Given the description of an element on the screen output the (x, y) to click on. 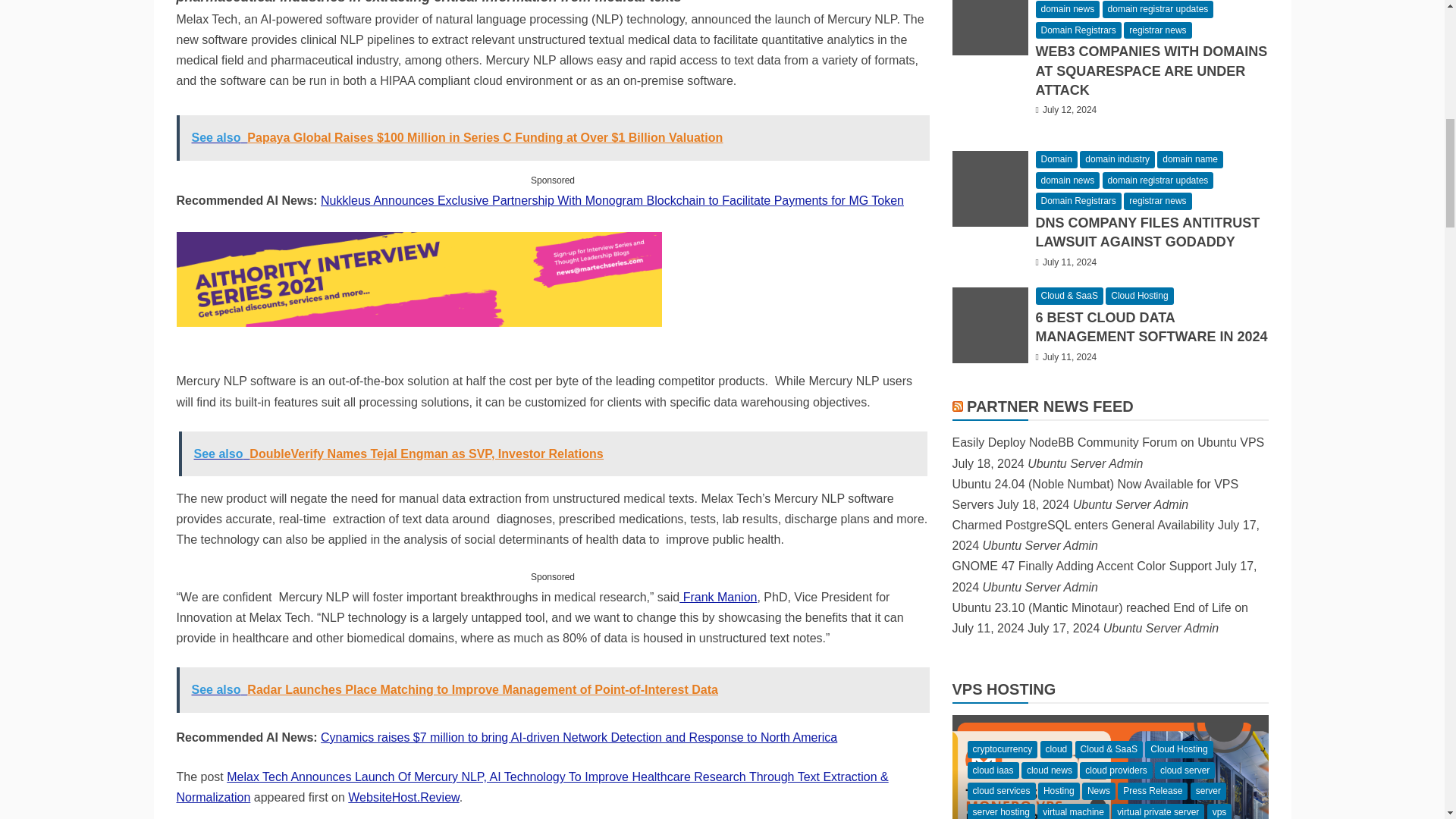
 Frank Manion (718, 596)
WebsiteHost.Review (402, 797)
